Given the description of an element on the screen output the (x, y) to click on. 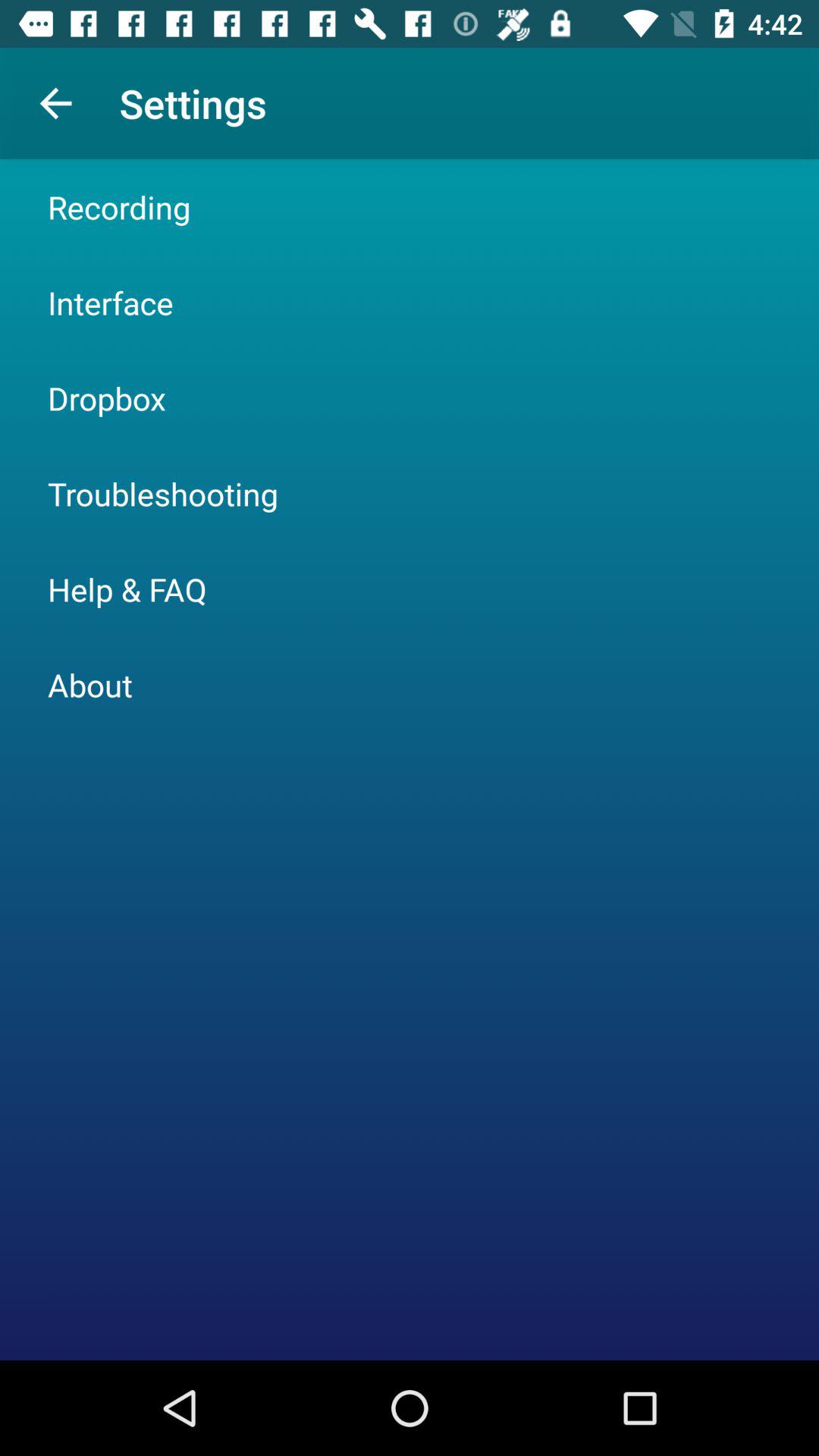
tap item below the interface icon (106, 397)
